Given the description of an element on the screen output the (x, y) to click on. 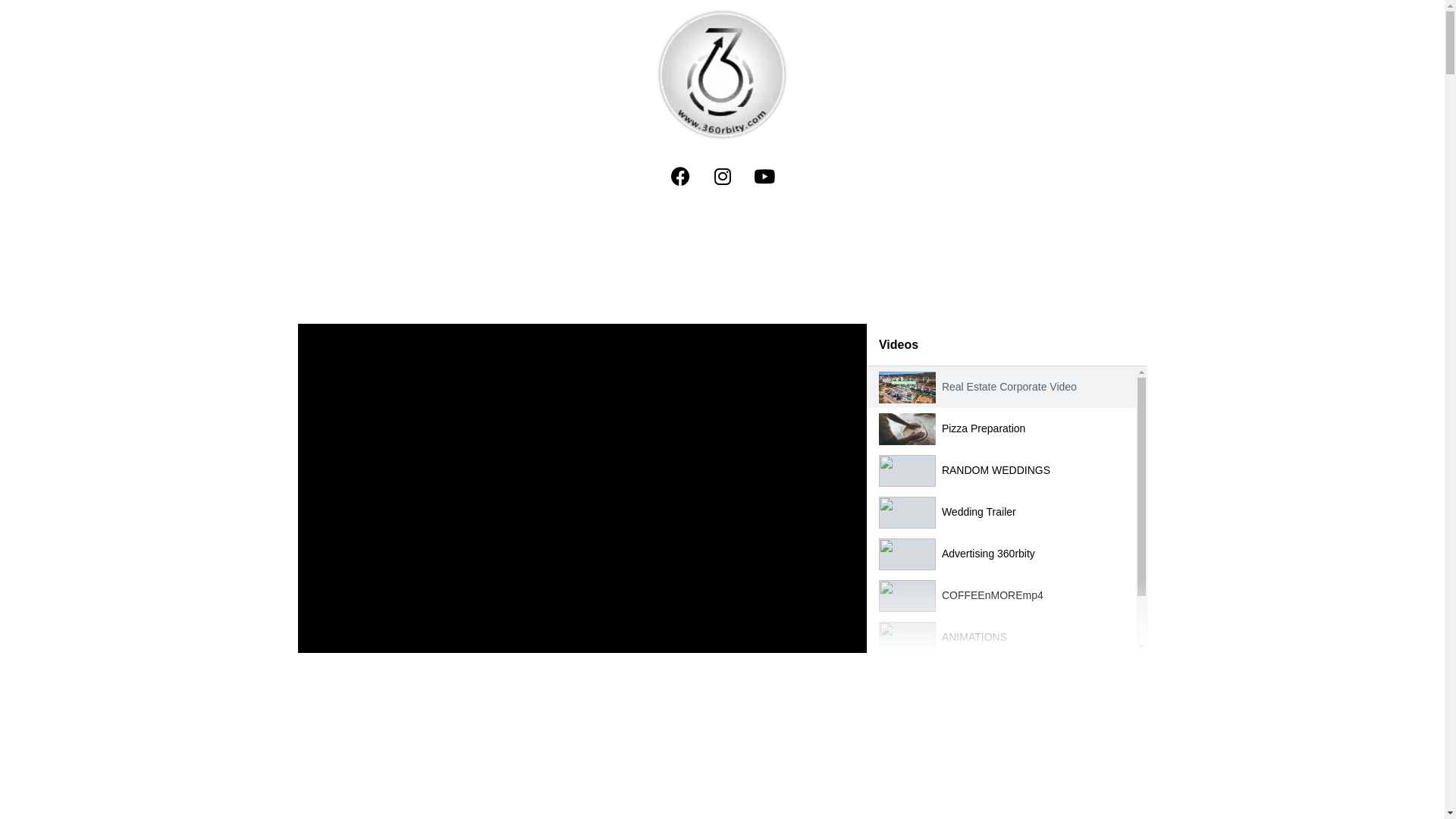
COFFEEnMOREmp4 Element type: text (992, 595)
ANIMATIONS Element type: text (974, 636)
Wedding Trailer Element type: text (978, 511)
Advertising 360rbity Element type: text (988, 553)
Pizza Preparation Element type: text (983, 428)
Real Estate Corporate Video Element type: text (1008, 386)
RANDOM WEDDINGS Element type: text (995, 470)
MARINA 360 Degrees VIDEOGRAPHY Element type: text (1033, 678)
